Given the description of an element on the screen output the (x, y) to click on. 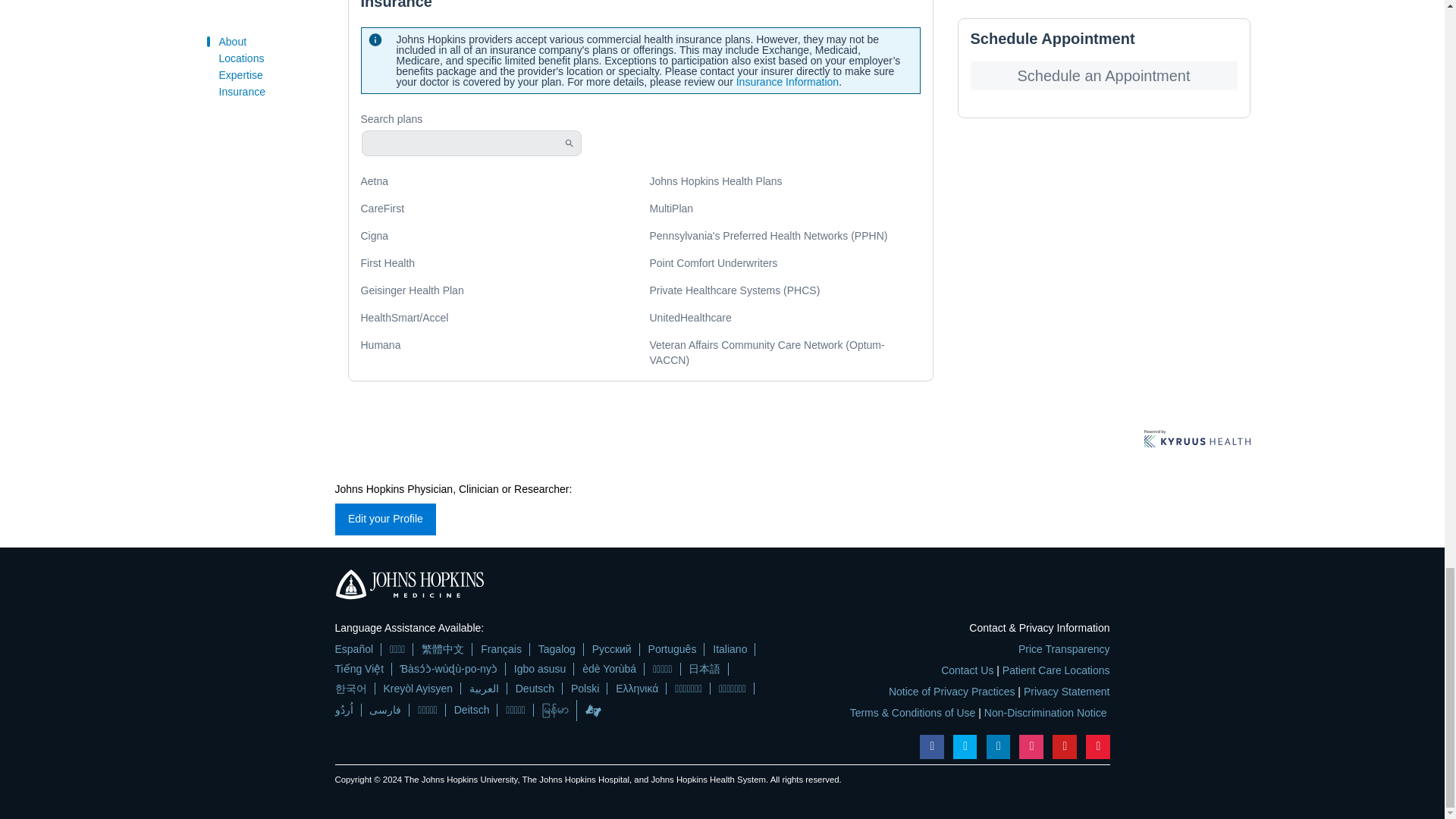
Edit your Profile (385, 519)
Italiano (729, 649)
Tagalog (556, 649)
Insurance Information (787, 81)
